Given the description of an element on the screen output the (x, y) to click on. 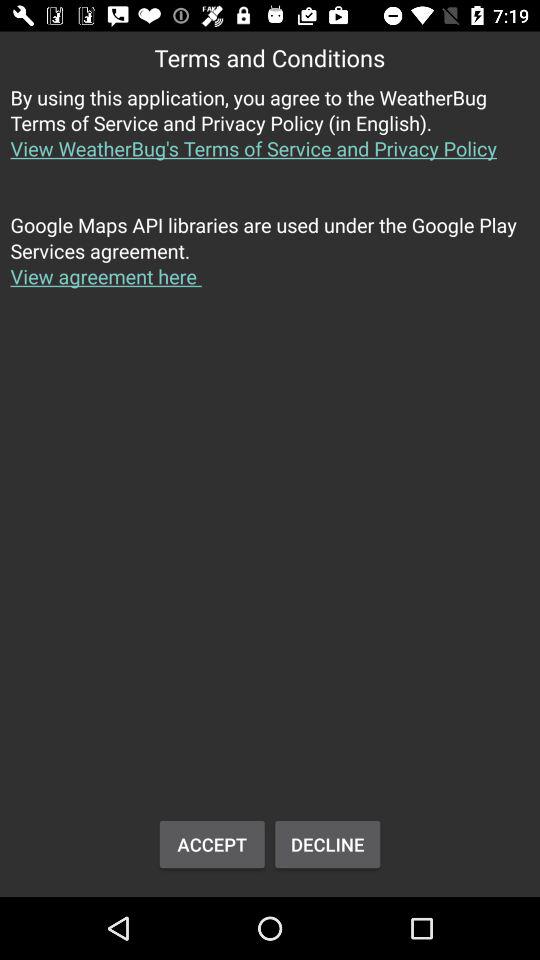
flip until the google maps api item (269, 262)
